Given the description of an element on the screen output the (x, y) to click on. 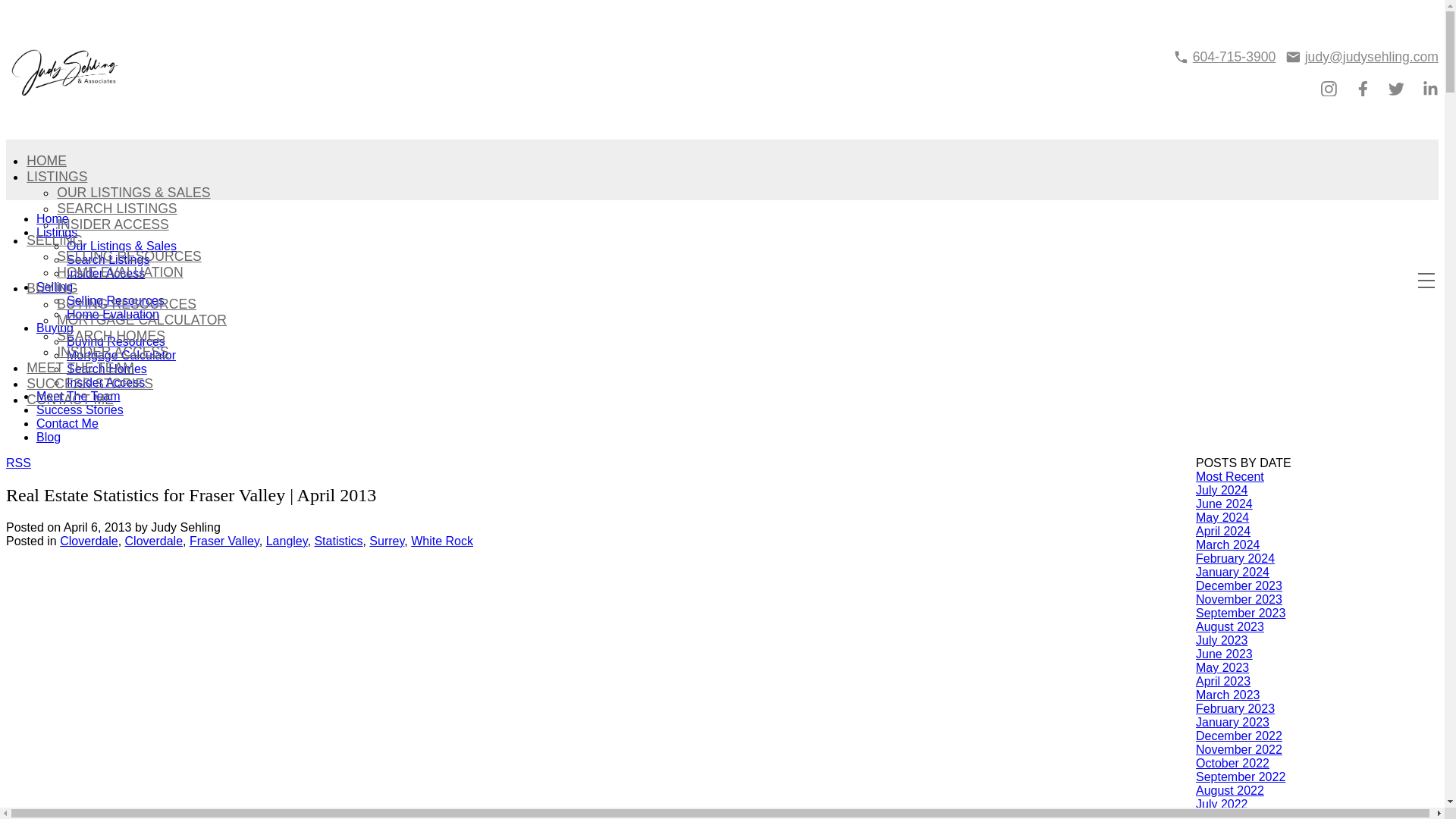
Instagram (1328, 88)
604-715-3900 (1224, 57)
Twitter (1397, 88)
Meet The Team (78, 395)
Selling Resources (115, 300)
Buying (55, 327)
BUYING RESOURCES (126, 304)
SELLING (54, 240)
HOME EVALUATION (119, 272)
INSIDER ACCESS (112, 224)
Contact Me (67, 422)
SELLING RESOURCES (129, 255)
MEET THE TEAM (79, 367)
Insider Access (105, 382)
CONTACT ME (69, 399)
